Given the description of an element on the screen output the (x, y) to click on. 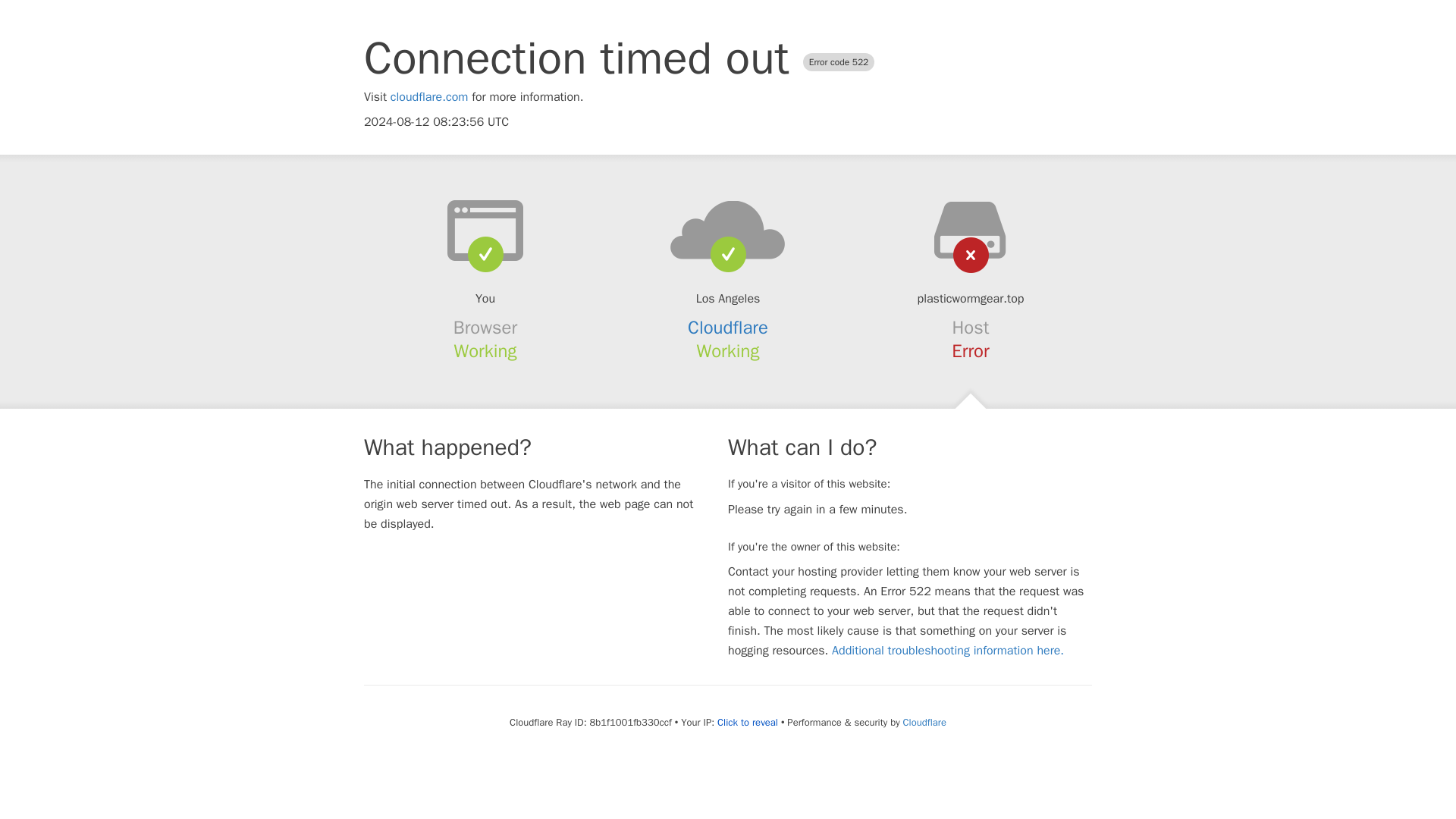
Additional troubleshooting information here. (947, 650)
Click to reveal (747, 722)
Cloudflare (727, 327)
Cloudflare (924, 721)
cloudflare.com (429, 96)
